Given the description of an element on the screen output the (x, y) to click on. 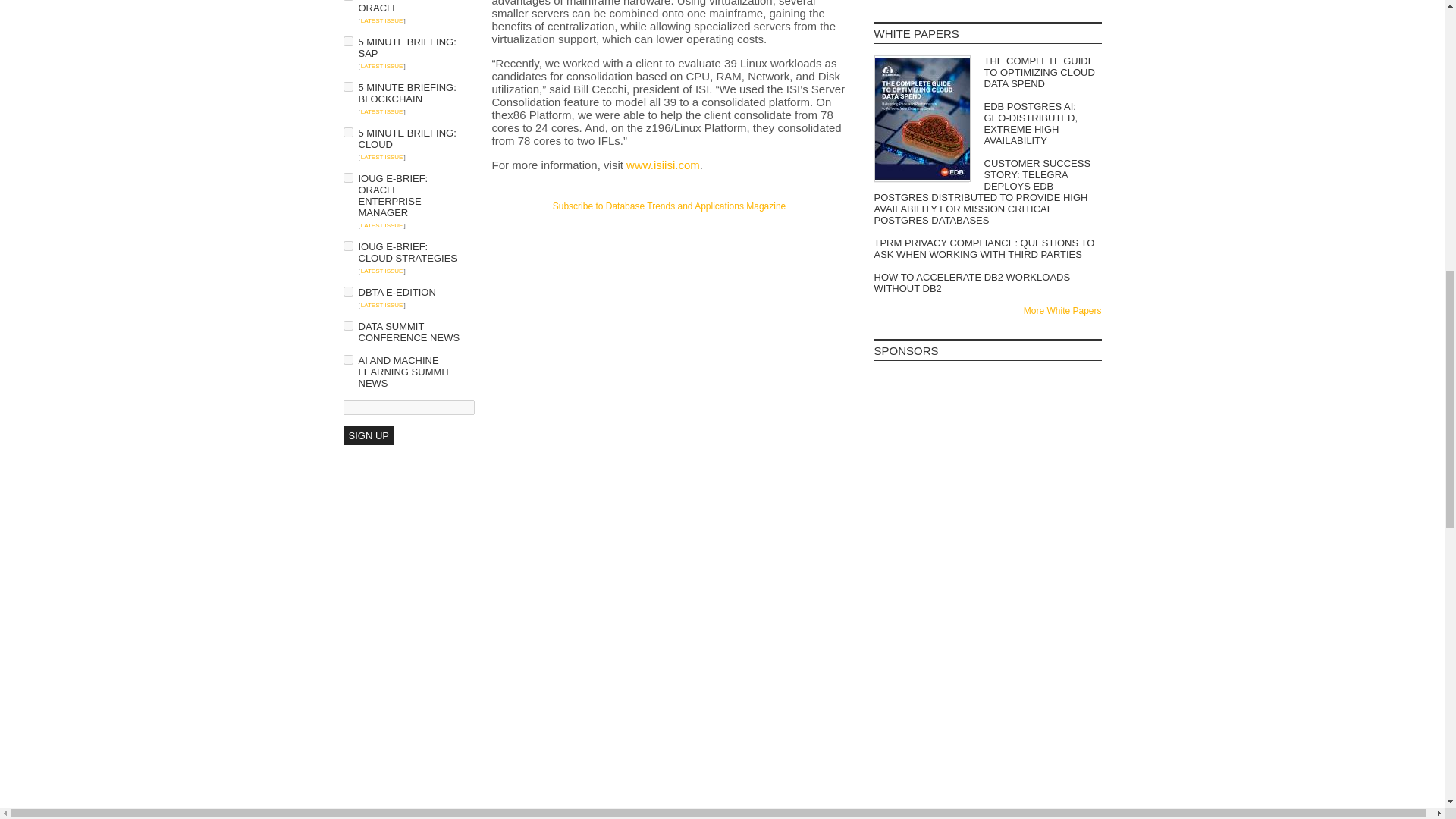
3rd party ad content (668, 241)
on (347, 359)
on (347, 132)
The Complete Guide to Optimizing Cloud Data Spend (986, 72)
EDB Postgres Ai: Geo-distributed, Extreme High Availability (986, 123)
on (347, 86)
on (347, 40)
on (347, 291)
on (347, 245)
